Given the description of an element on the screen output the (x, y) to click on. 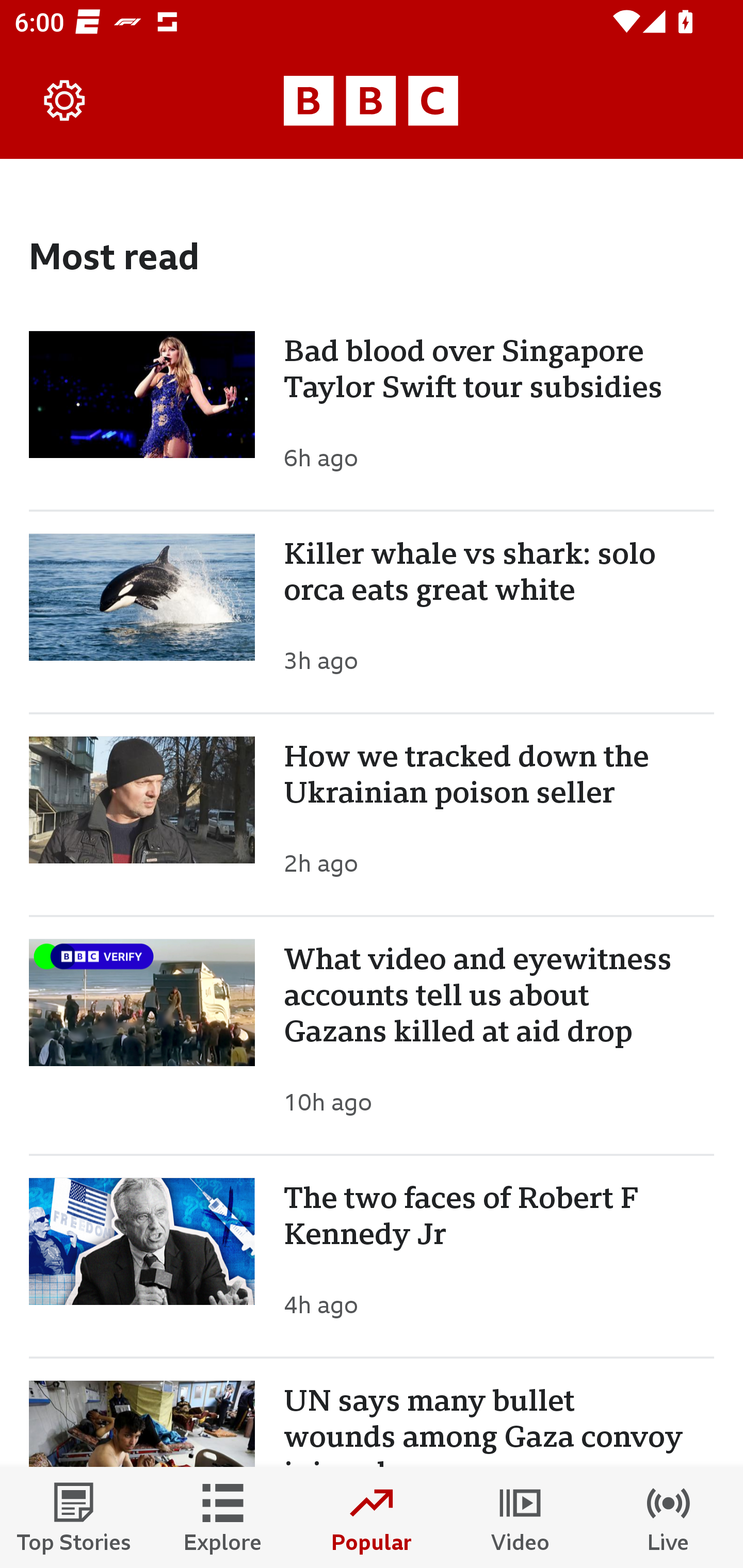
Settings (64, 100)
Top Stories (74, 1517)
Explore (222, 1517)
Video (519, 1517)
Live (668, 1517)
